Given the description of an element on the screen output the (x, y) to click on. 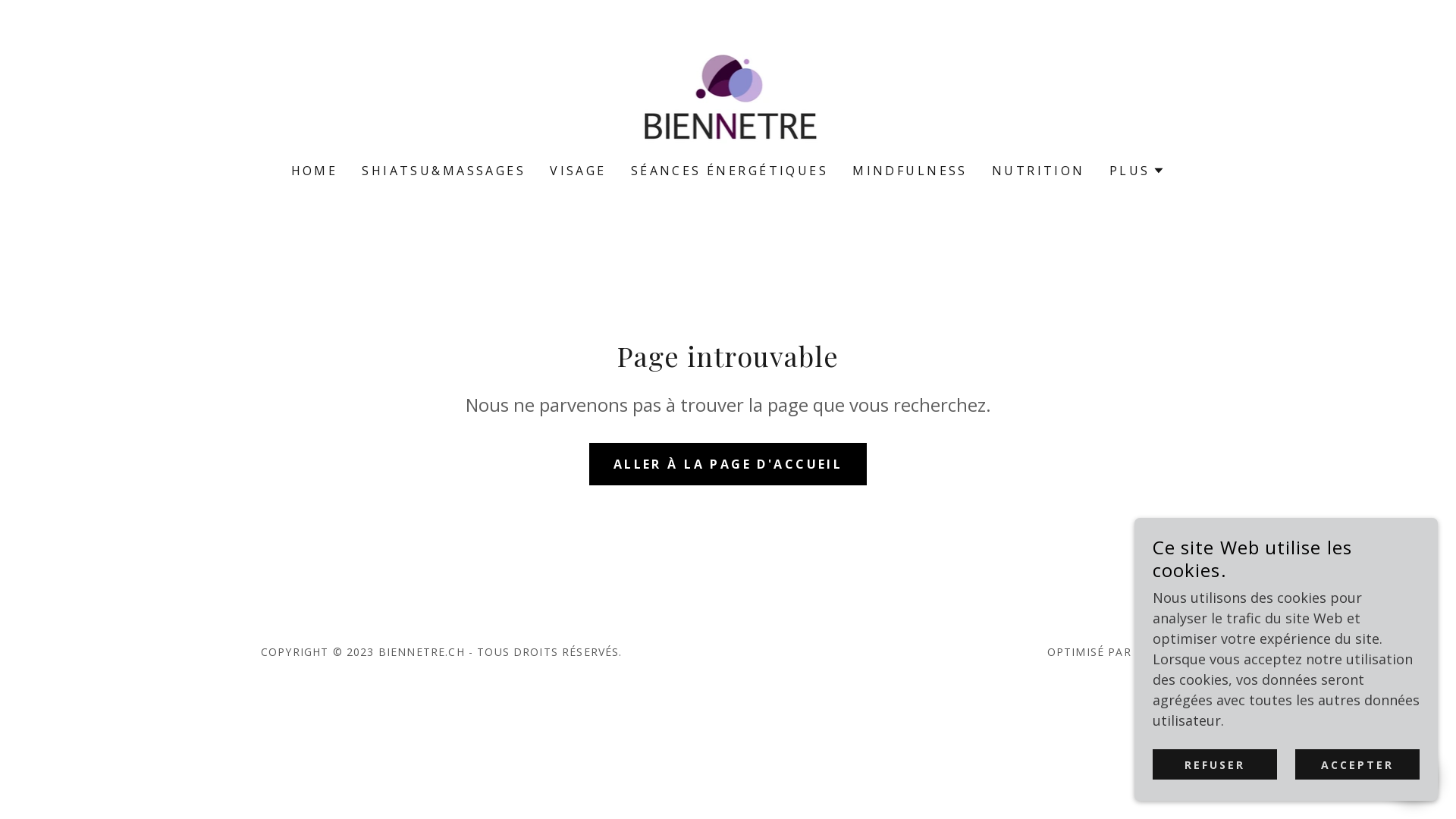
NUTRITION Element type: text (1038, 170)
ACCEPTER Element type: text (1357, 764)
HOME Element type: text (314, 170)
PLUS Element type: text (1137, 170)
GODADDY Element type: text (1165, 651)
VISAGE Element type: text (578, 170)
SHIATSU&MASSAGES Element type: text (443, 170)
MINDFULNESS Element type: text (909, 170)
REFUSER Element type: text (1214, 764)
Biennetre.ch Element type: hover (728, 90)
